Given the description of an element on the screen output the (x, y) to click on. 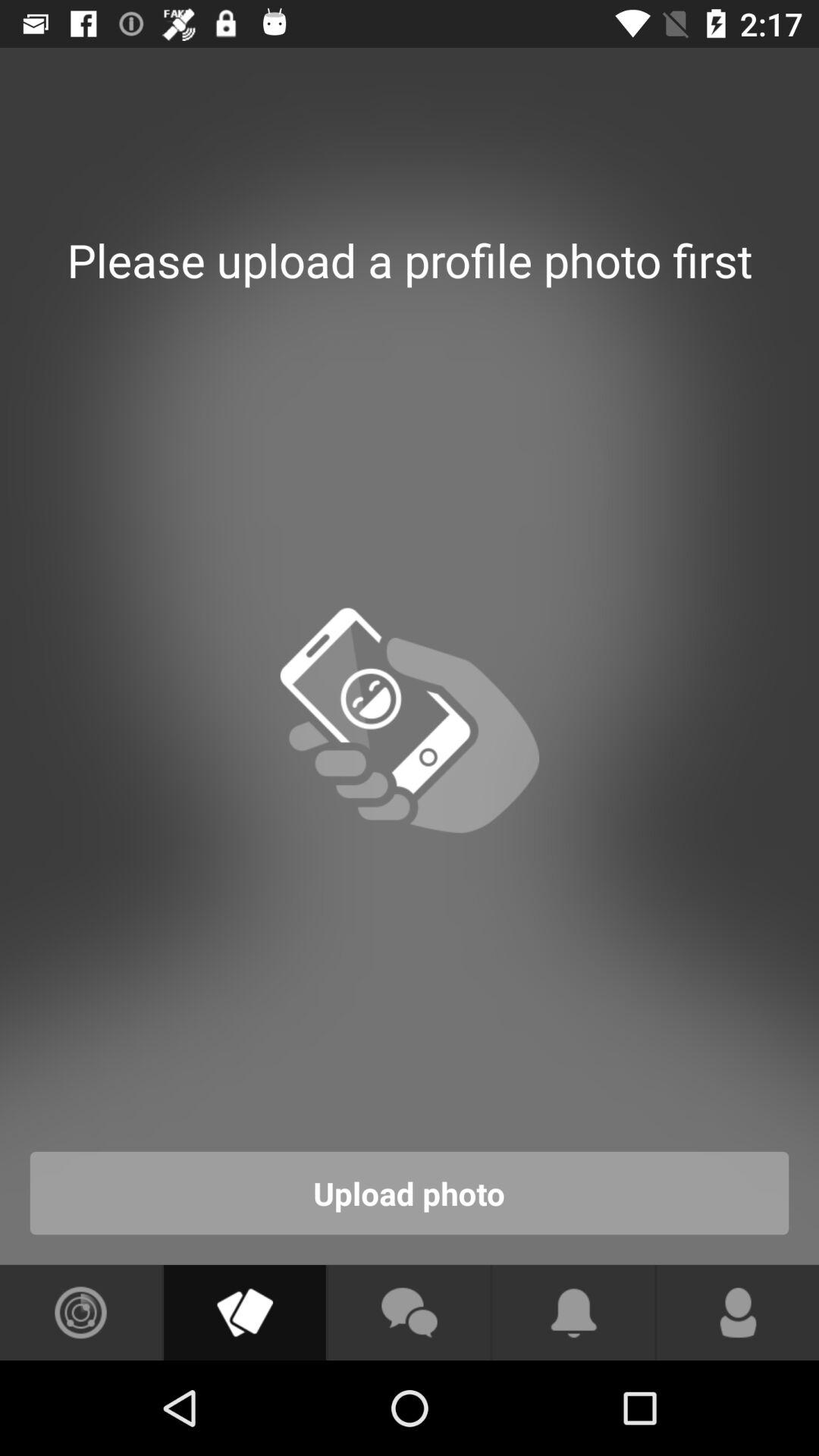
see profile photos (244, 1312)
